Given the description of an element on the screen output the (x, y) to click on. 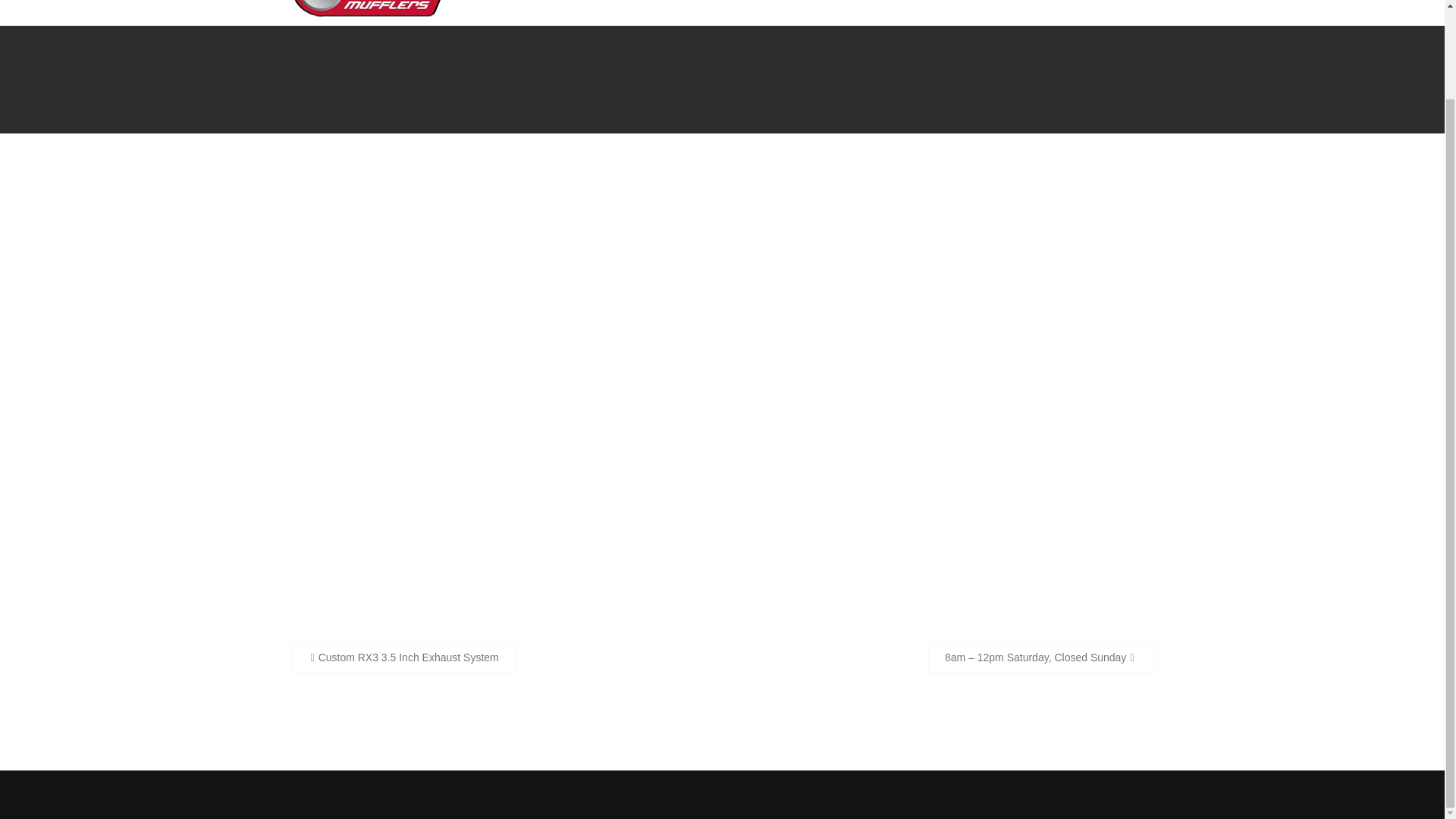
Custom RX3 3.5 Inch Exhaust System (402, 657)
Tube Bending (933, 2)
Truck Exhaust Systems (538, 2)
